Given the description of an element on the screen output the (x, y) to click on. 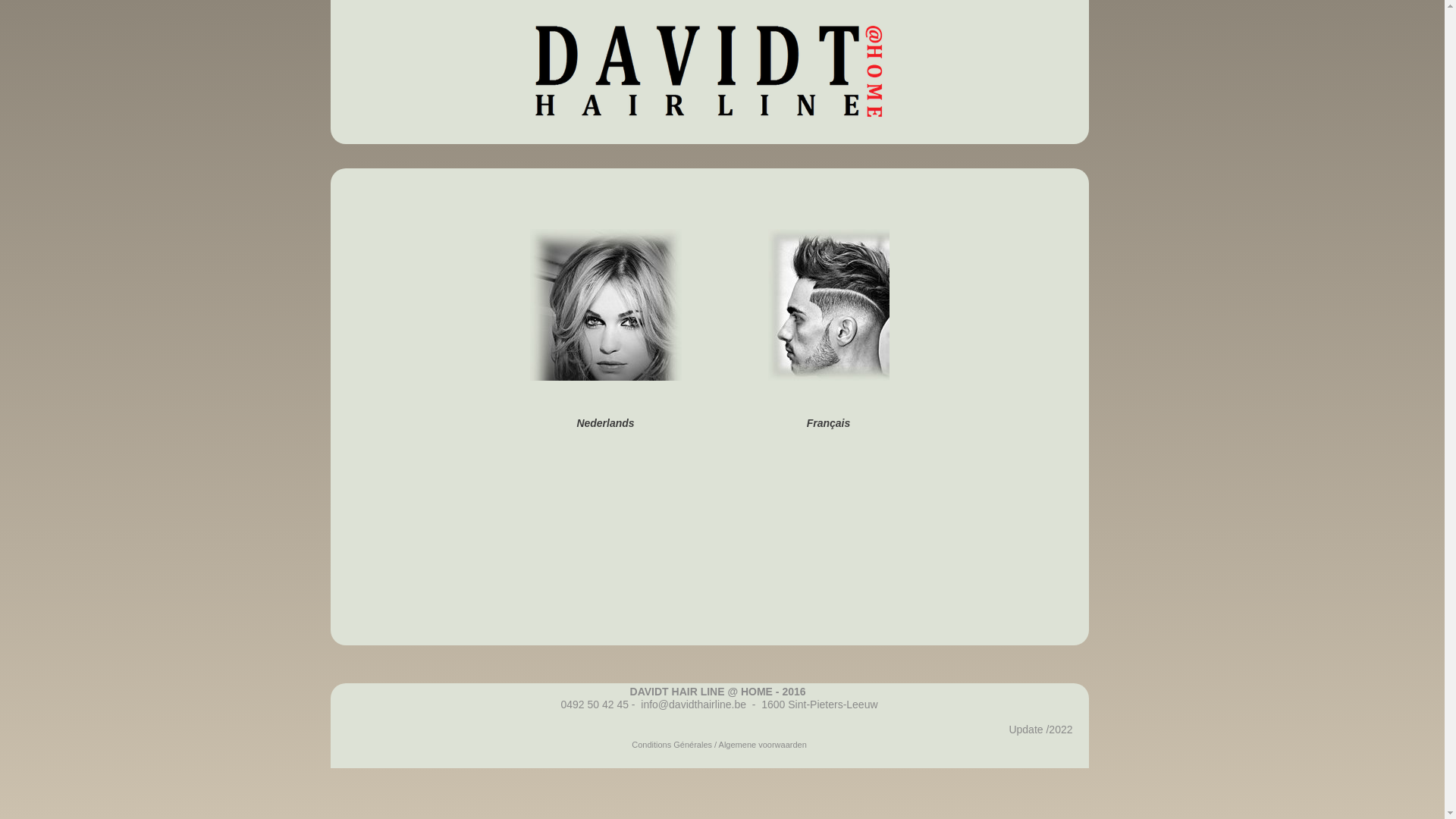
Nederlands Element type: text (604, 423)
